Given the description of an element on the screen output the (x, y) to click on. 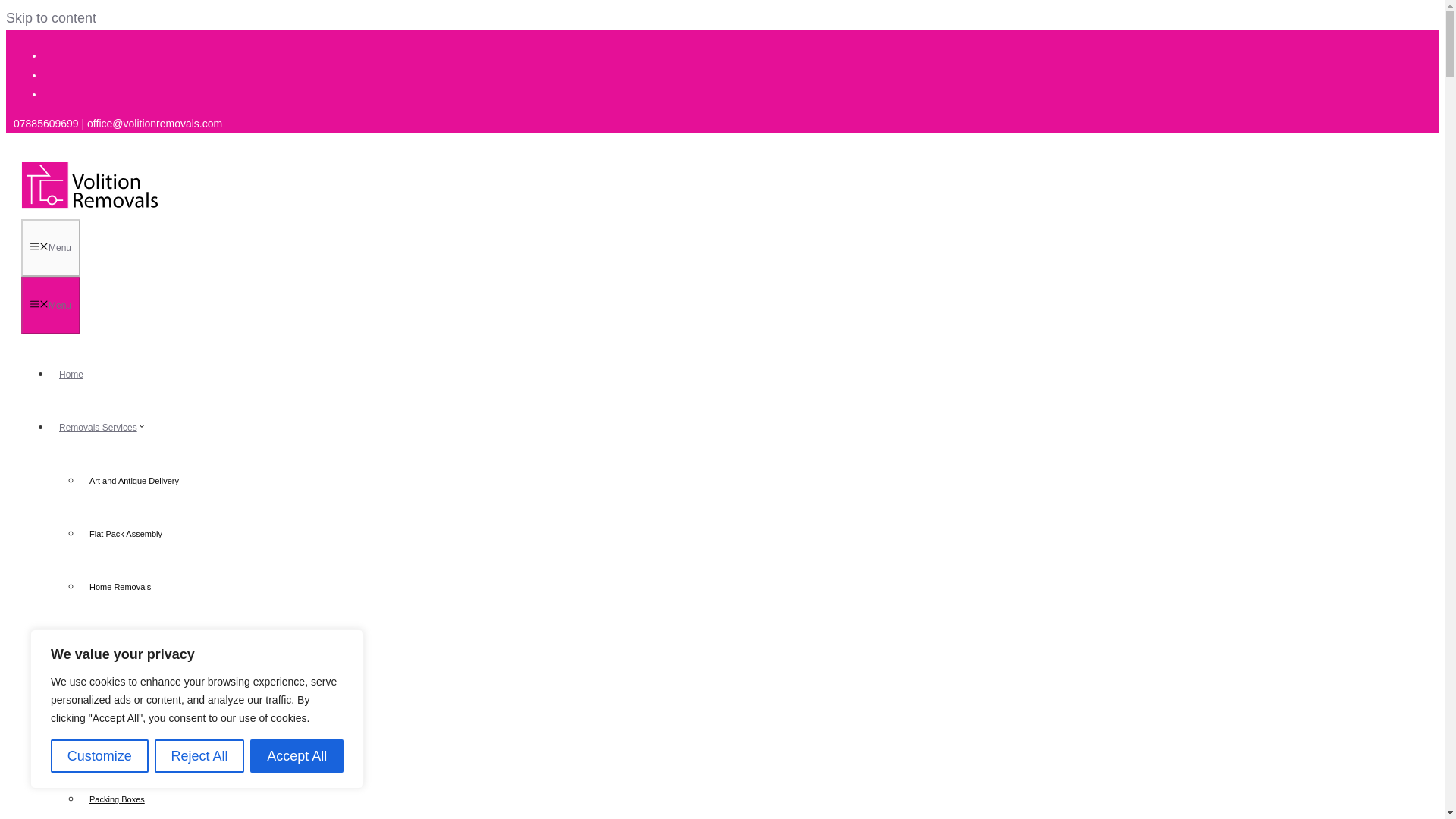
Menu (50, 247)
House Clearance Services (138, 639)
Skip to content (50, 17)
Reject All (199, 756)
Art and Antique Delivery (133, 480)
Customize (99, 756)
Home (70, 374)
Flat Pack Assembly (125, 533)
Home Removals (119, 586)
Packing Boxes (116, 799)
Removals Services (105, 427)
Office Removals (119, 745)
Skip to content (50, 17)
Man And Van (114, 692)
Menu (50, 305)
